Given the description of an element on the screen output the (x, y) to click on. 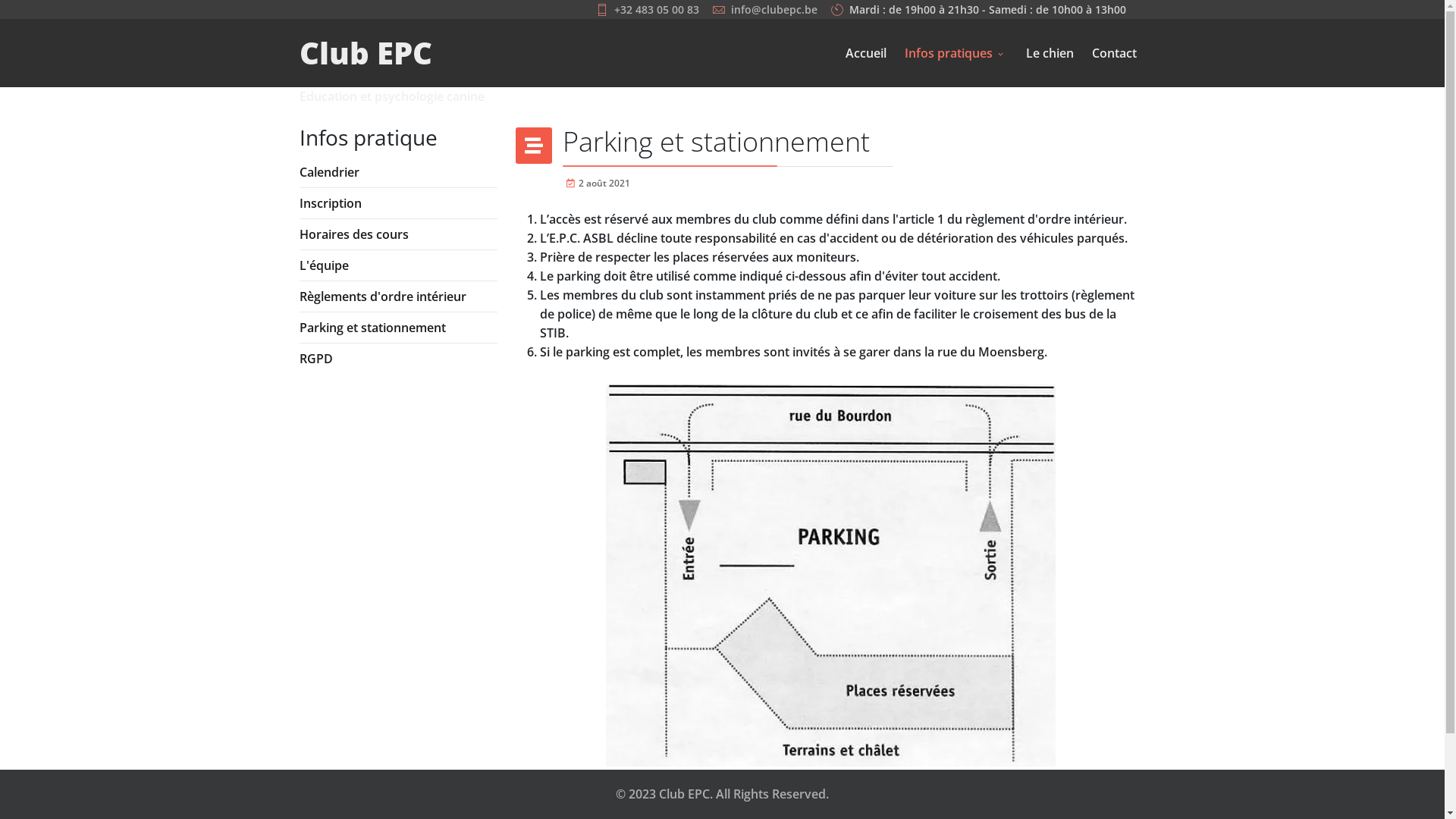
RGPD Element type: text (397, 358)
+32 483 05 00 83 Element type: text (656, 9)
Calendrier Element type: text (397, 171)
Parking et stationnement Element type: text (397, 327)
Inscription Element type: text (397, 203)
Le chien Element type: text (1049, 52)
Accueil Element type: text (864, 52)
info@clubepc.be Element type: text (774, 9)
Infos pratiques Element type: text (955, 52)
Club EPC Element type: text (364, 52)
Horaires des cours Element type: text (397, 234)
Contact Element type: text (1113, 52)
